Given the description of an element on the screen output the (x, y) to click on. 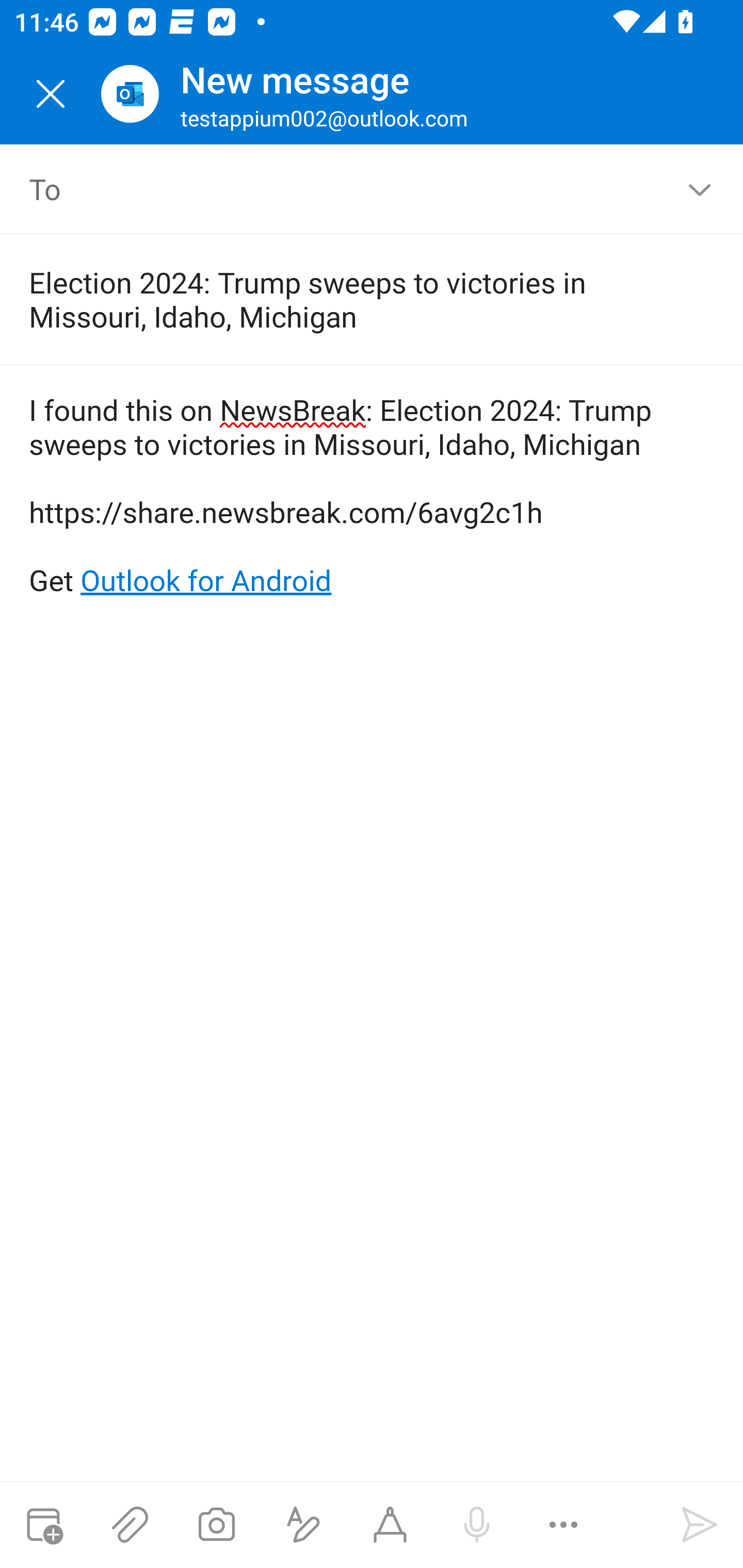
Close (50, 93)
Attach meeting (43, 1524)
Attach files (129, 1524)
Take a photo (216, 1524)
Show formatting options (303, 1524)
Start Ink compose (389, 1524)
More options (563, 1524)
Send (699, 1524)
